Given the description of an element on the screen output the (x, y) to click on. 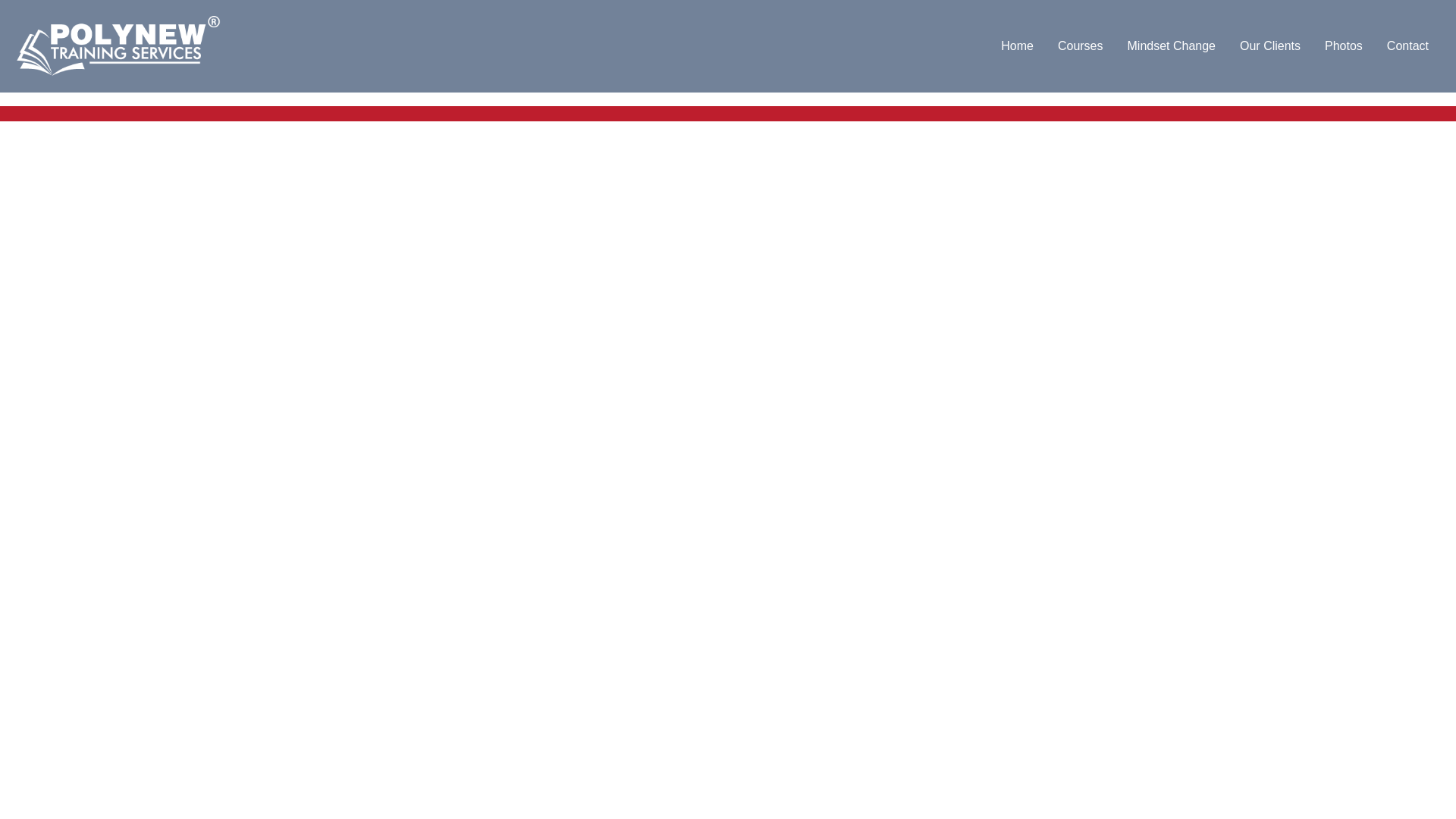
Courses (1080, 45)
Photos (1343, 45)
Contact (1407, 45)
Our Clients (1270, 45)
Home (1016, 45)
Mindset Change (1171, 45)
